Given the description of an element on the screen output the (x, y) to click on. 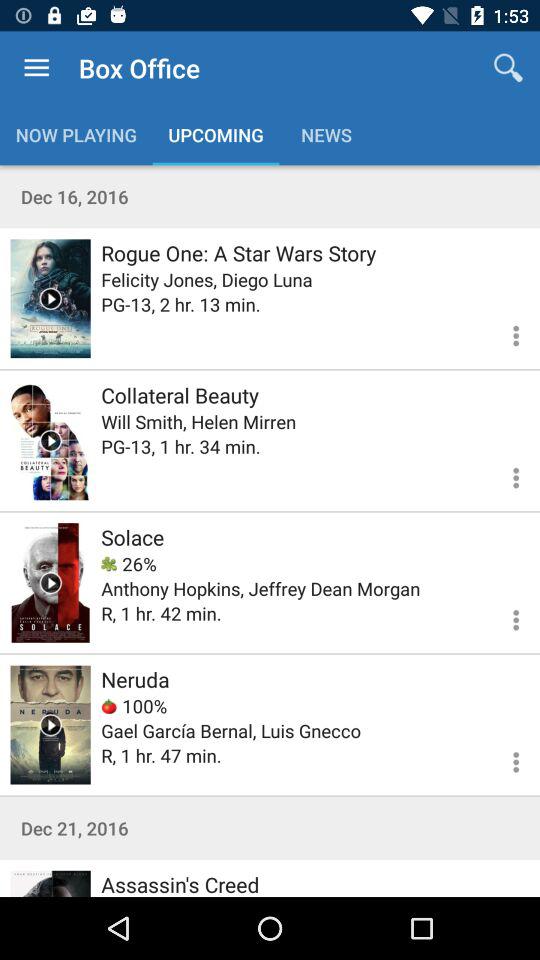
swipe to solace icon (132, 537)
